Given the description of an element on the screen output the (x, y) to click on. 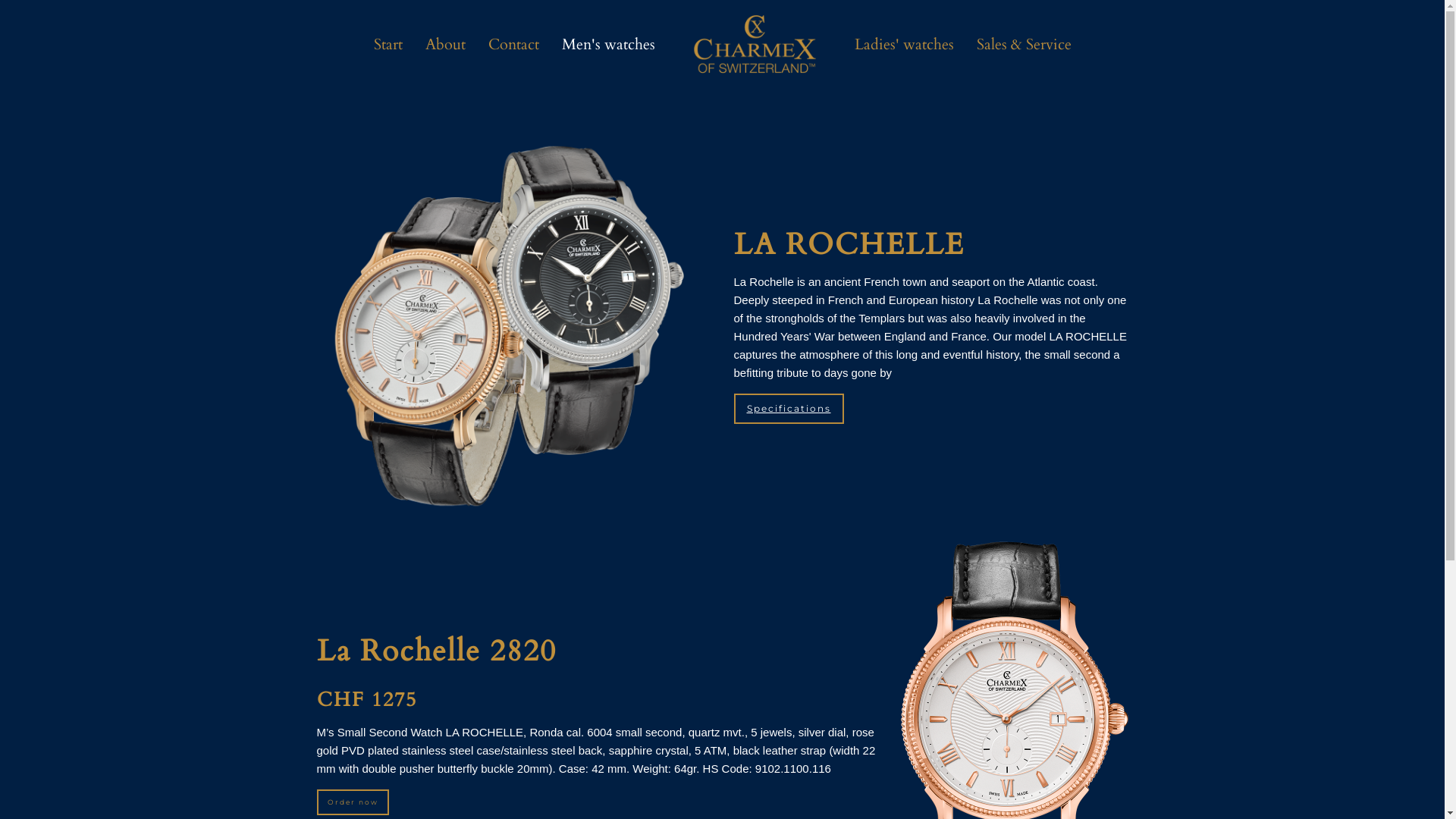
Start Element type: text (388, 44)
Order now Element type: text (352, 802)
Sales & Service Element type: text (1023, 44)
Ladies' watches Element type: text (904, 44)
Men's watches Element type: text (608, 44)
Contact Element type: text (512, 44)
About Element type: text (445, 44)
Specifications Element type: text (788, 408)
